Given the description of an element on the screen output the (x, y) to click on. 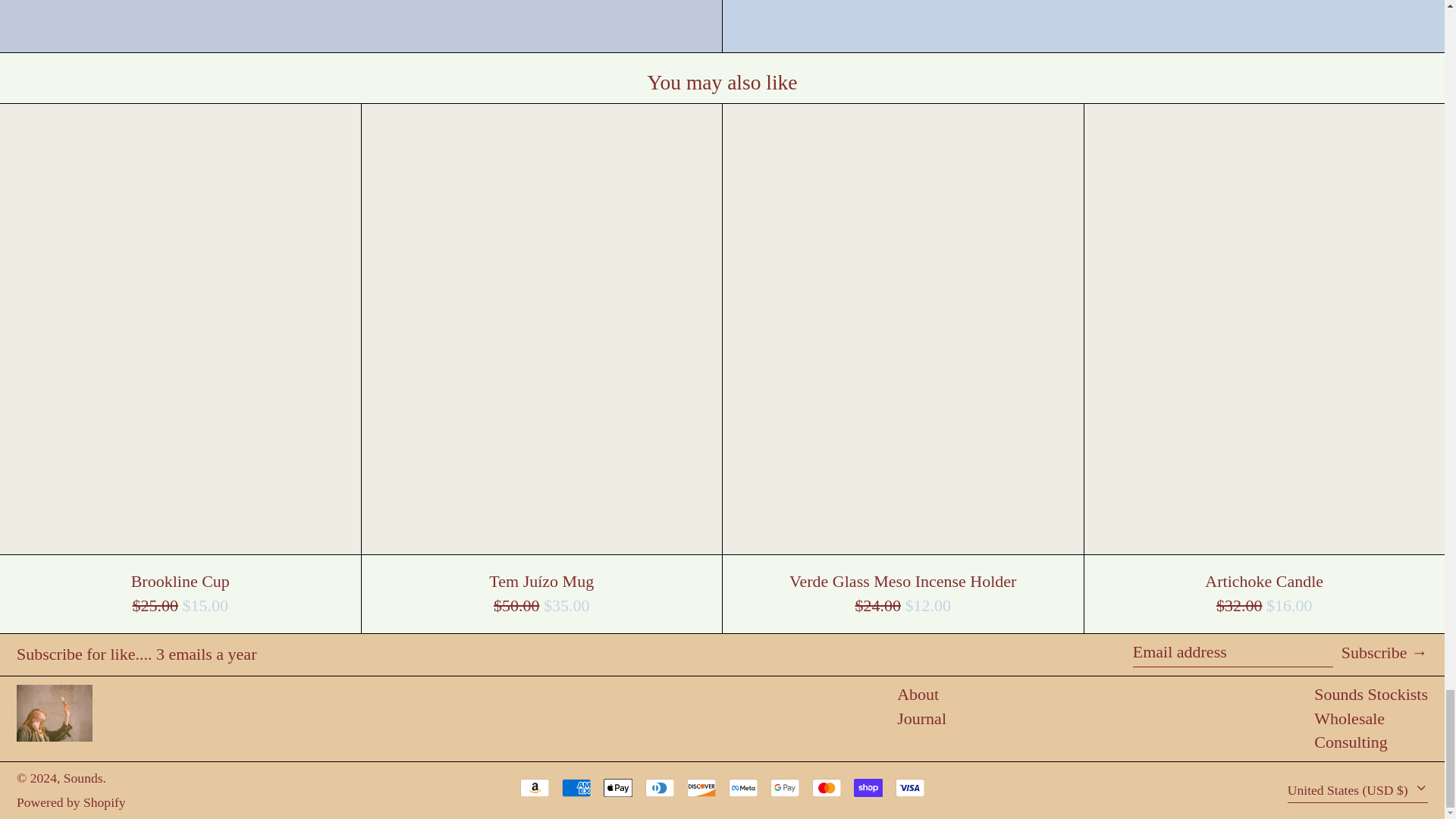
Journal (921, 718)
Consulting (1350, 741)
Sounds (83, 777)
Powered by Shopify (70, 801)
Sounds Stockists (1371, 693)
About (917, 693)
Wholesale (1349, 718)
